Given the description of an element on the screen output the (x, y) to click on. 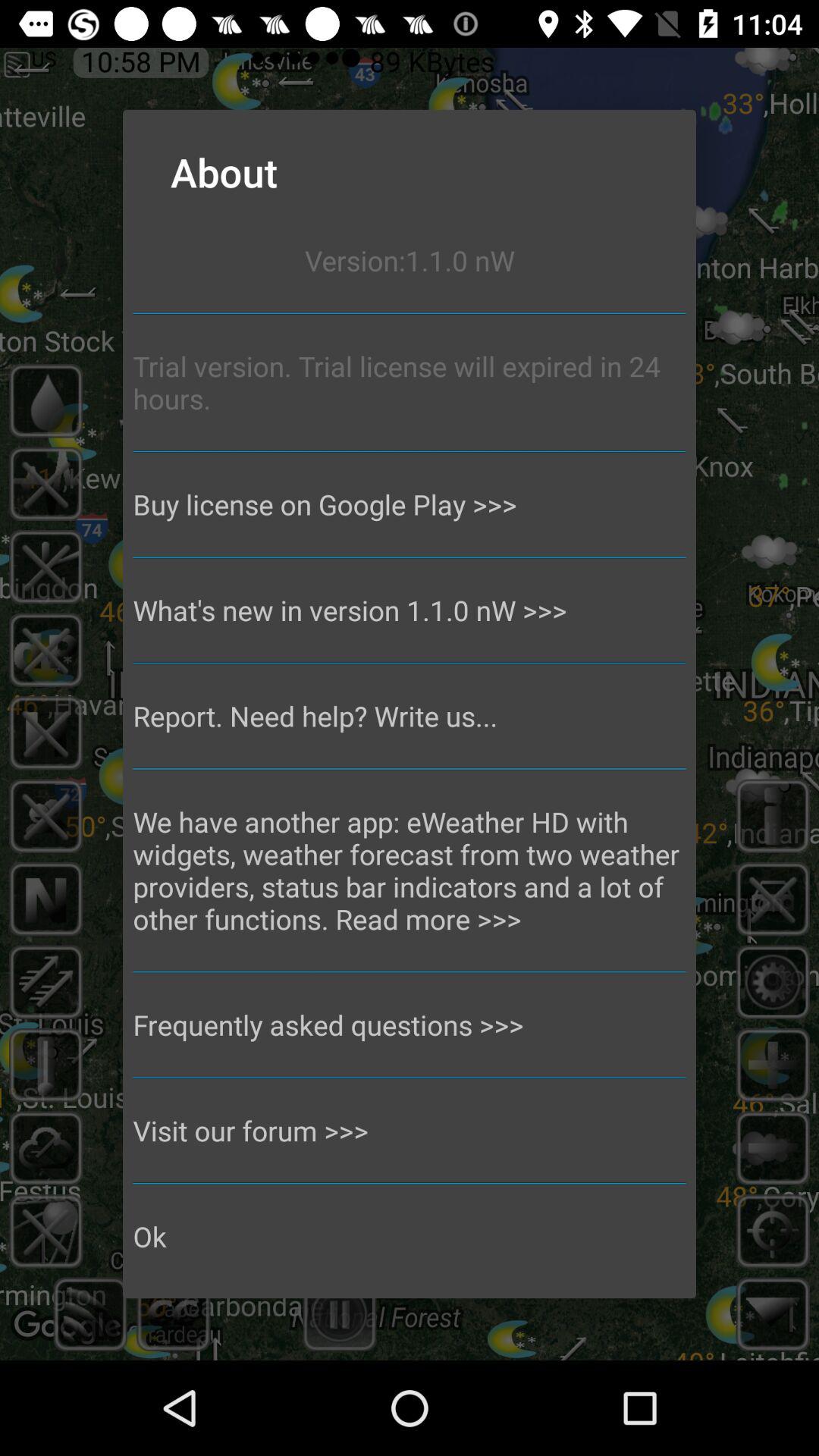
swipe until the what s new app (409, 610)
